Given the description of an element on the screen output the (x, y) to click on. 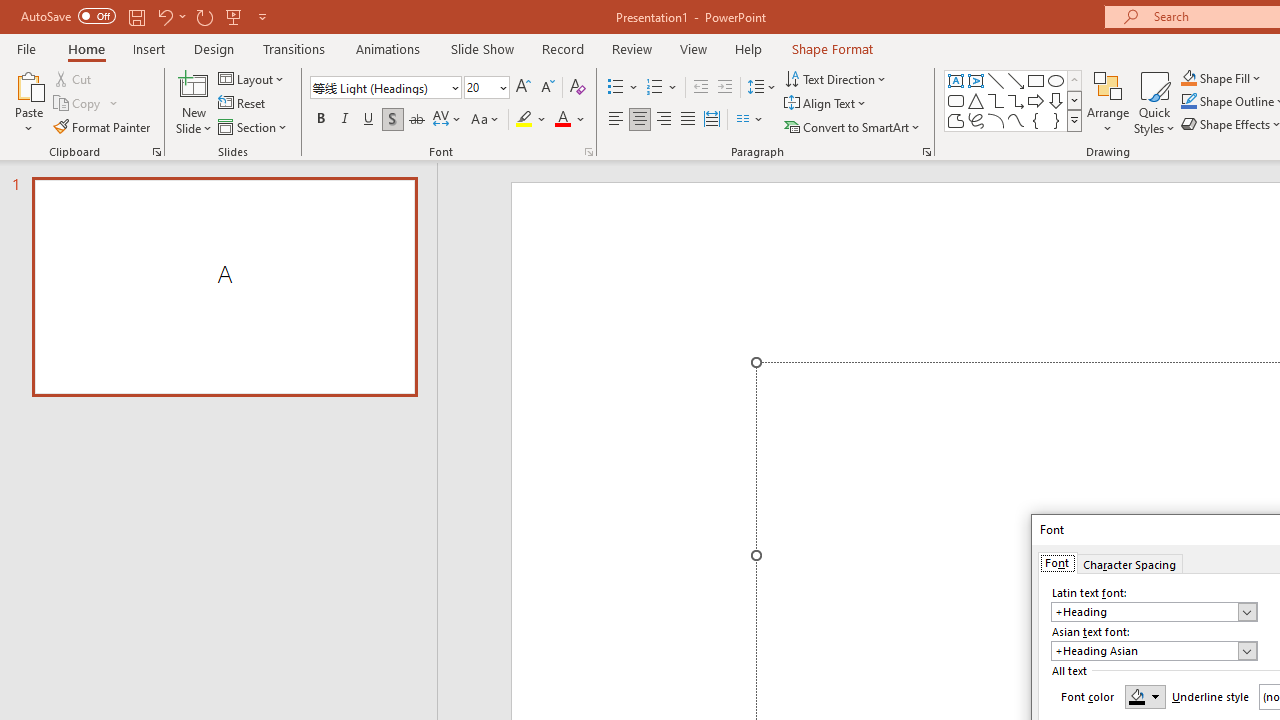
Copy (85, 103)
Paragraph... (926, 151)
Text Box (955, 80)
Strikethrough (416, 119)
Increase Indent (725, 87)
Freeform: Shape (955, 120)
Shape Fill (1221, 78)
Arrow: Down (1055, 100)
Align Text (826, 103)
Align Right (663, 119)
Shadow (392, 119)
Asian text font (1154, 650)
Font Color Red (562, 119)
